Given the description of an element on the screen output the (x, y) to click on. 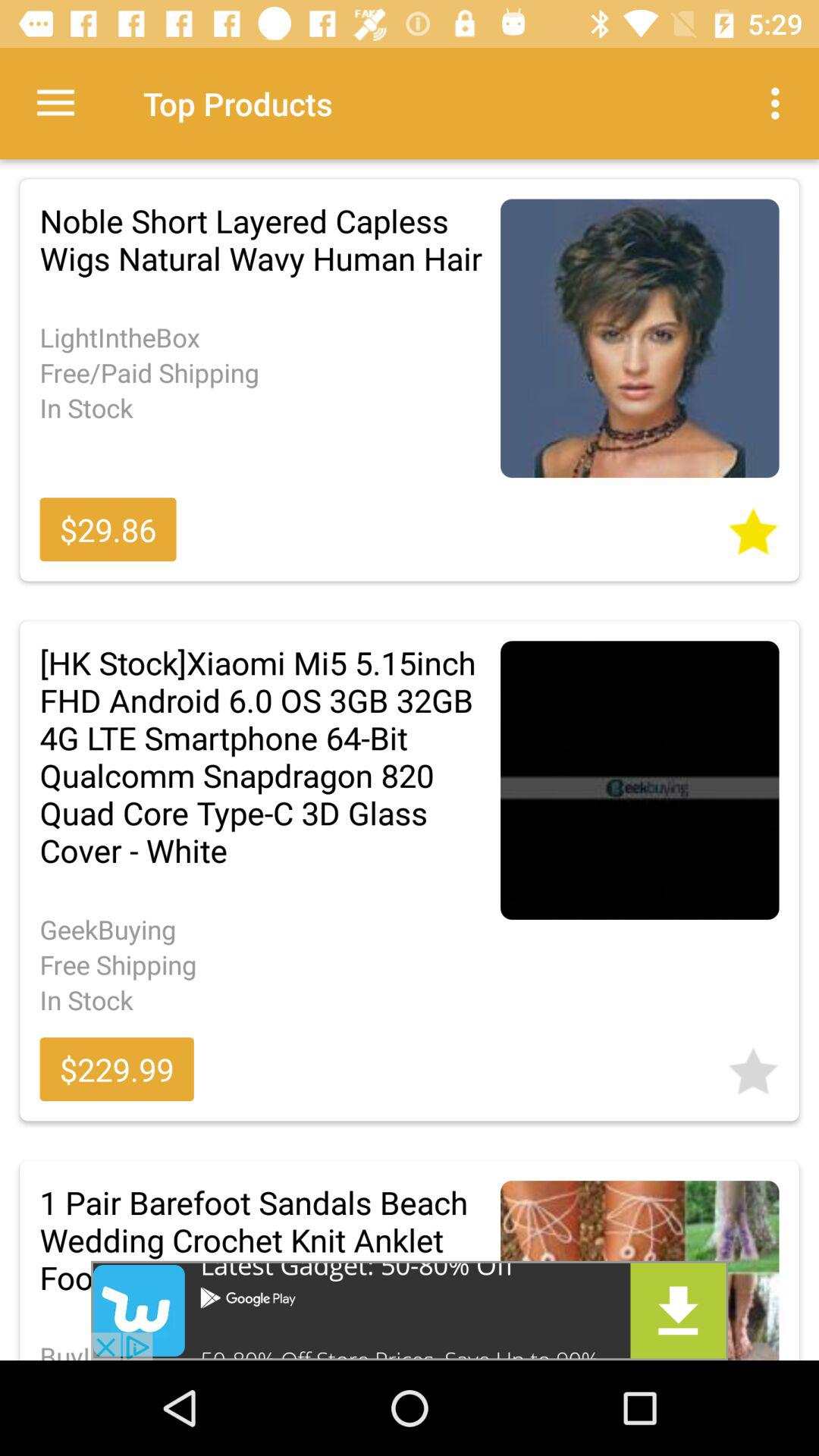
select advertisement (409, 1310)
